Given the description of an element on the screen output the (x, y) to click on. 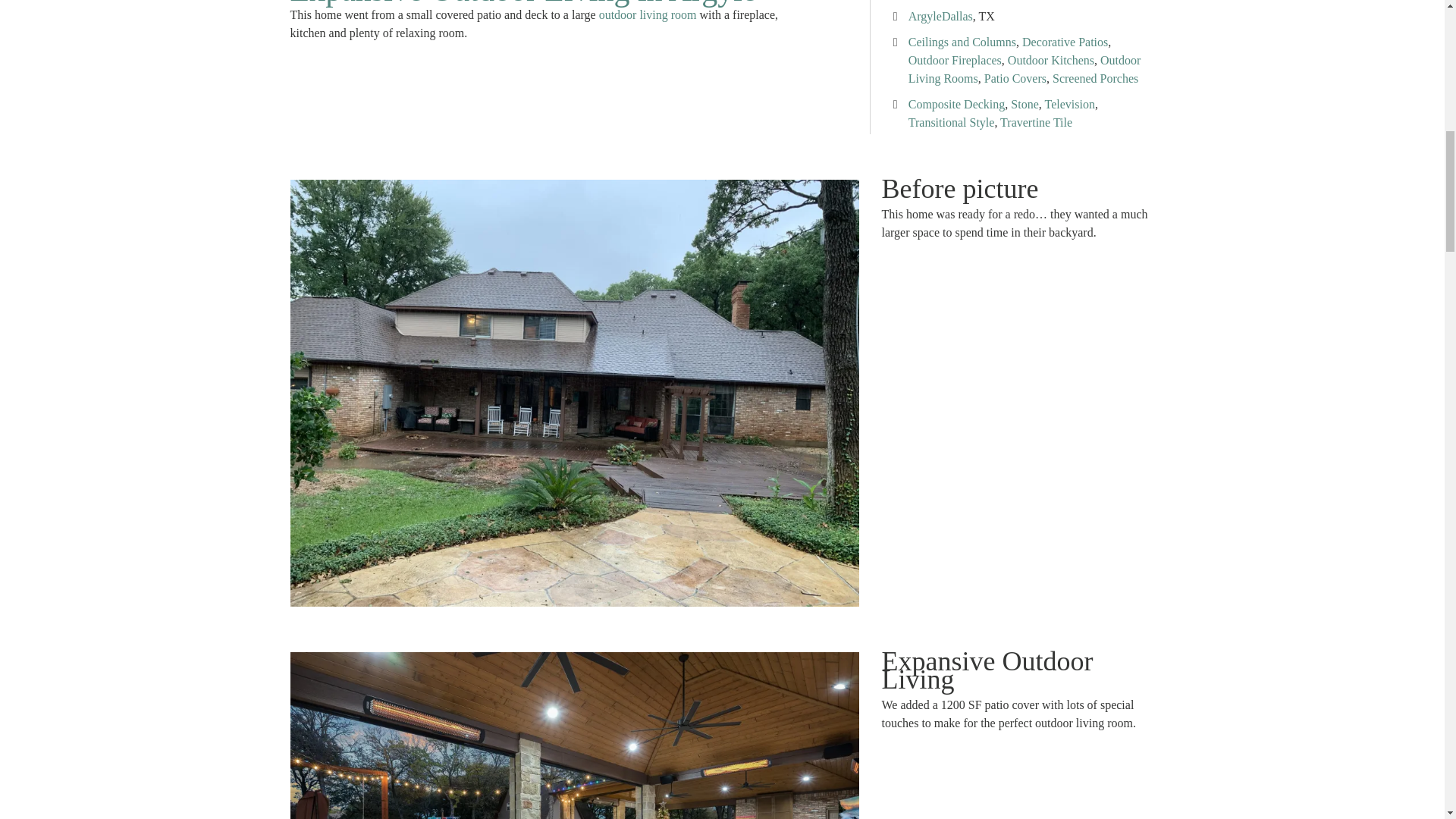
Argyle (925, 15)
outdoor living room (647, 14)
